Given the description of an element on the screen output the (x, y) to click on. 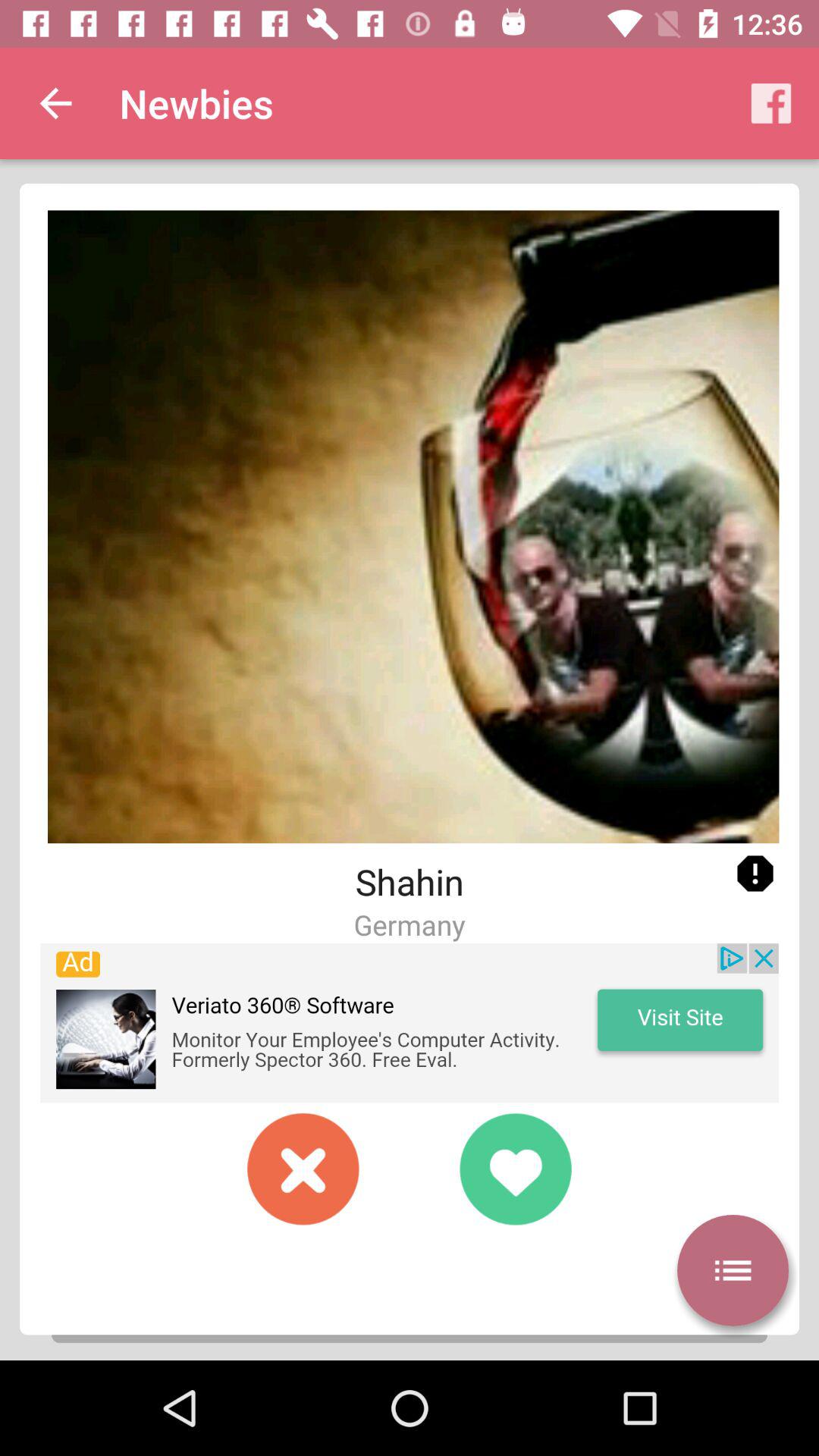
info about the context (755, 873)
